Given the description of an element on the screen output the (x, y) to click on. 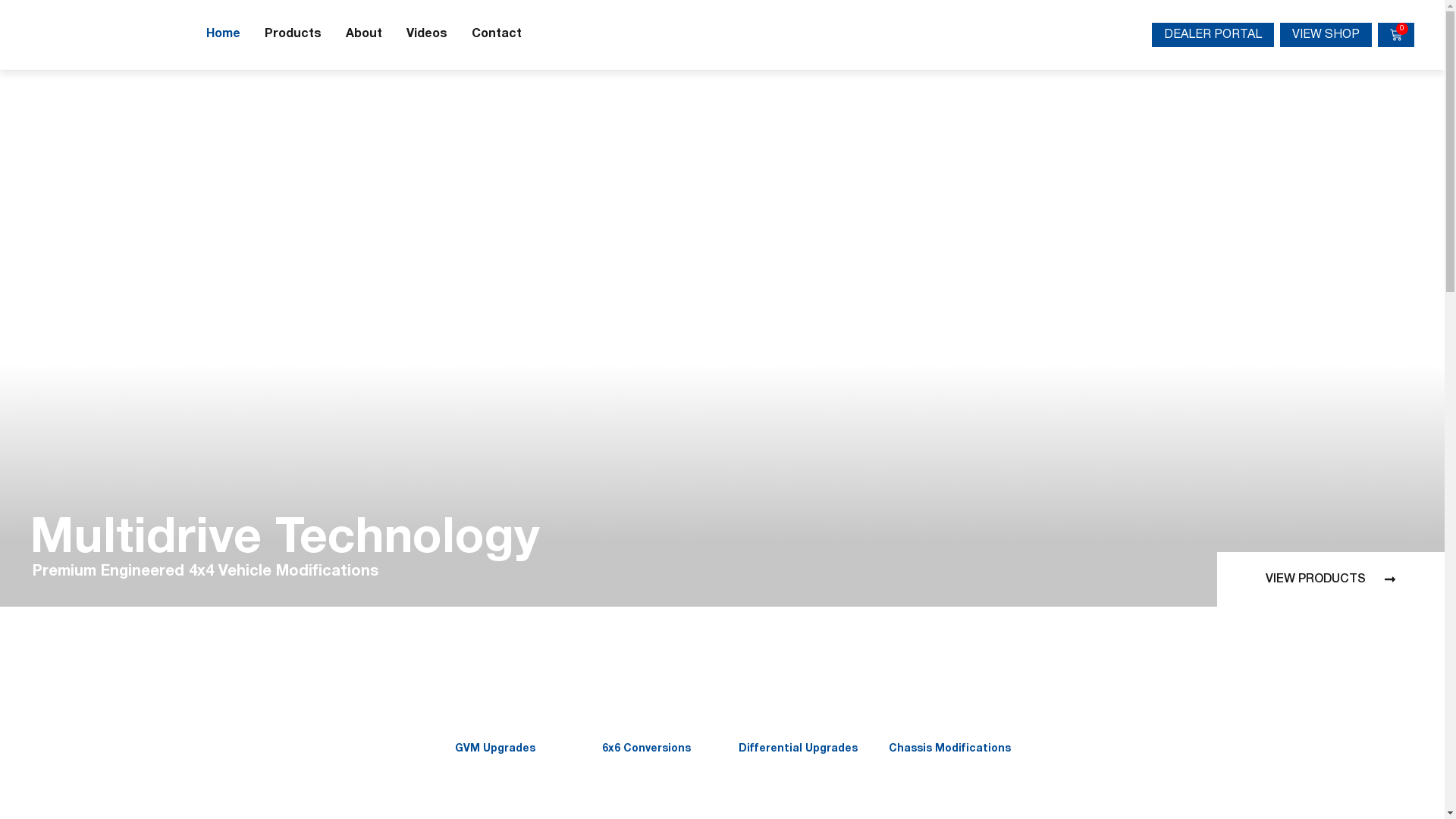
Videos Element type: text (426, 34)
DEALER PORTAL Element type: text (1212, 34)
Home Element type: text (223, 34)
0
CART Element type: text (1395, 34)
VIEW SHOP Element type: text (1325, 34)
Contact Element type: text (496, 34)
About Element type: text (363, 34)
VIEW PRODUCTS Element type: text (1330, 580)
Products Element type: text (292, 34)
Logo_Main Element type: hover (106, 34)
